Given the description of an element on the screen output the (x, y) to click on. 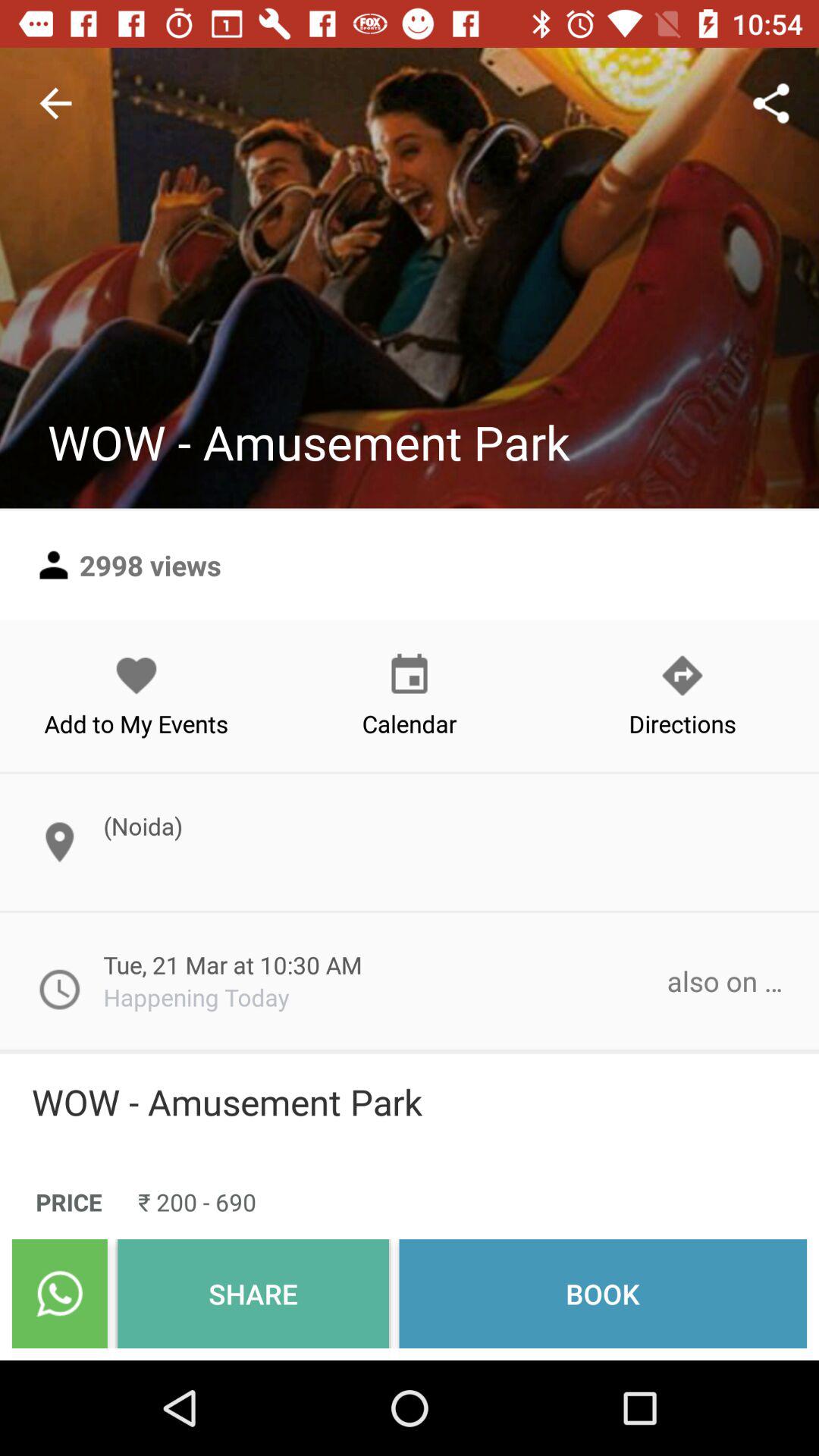
launch the calendar icon (409, 695)
